Given the description of an element on the screen output the (x, y) to click on. 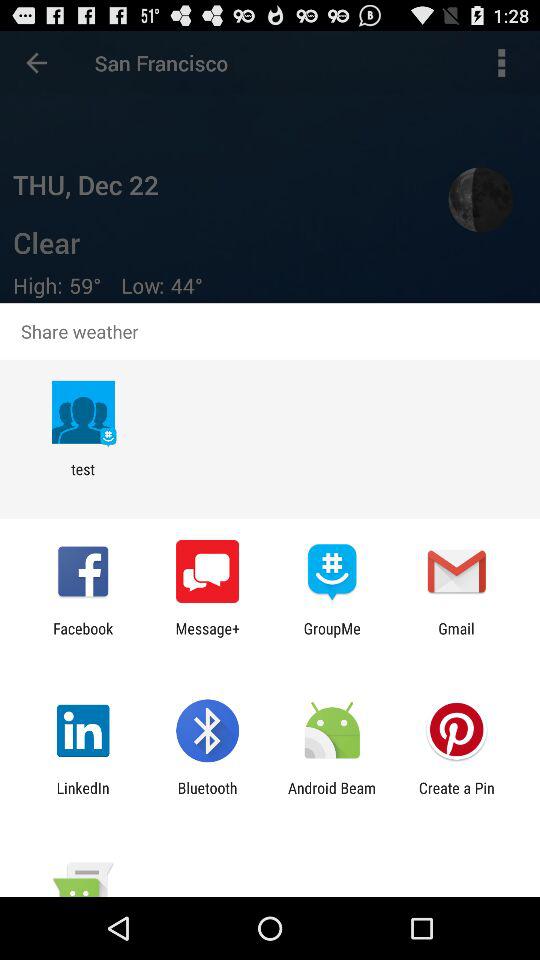
press icon to the right of the android beam item (456, 796)
